Given the description of an element on the screen output the (x, y) to click on. 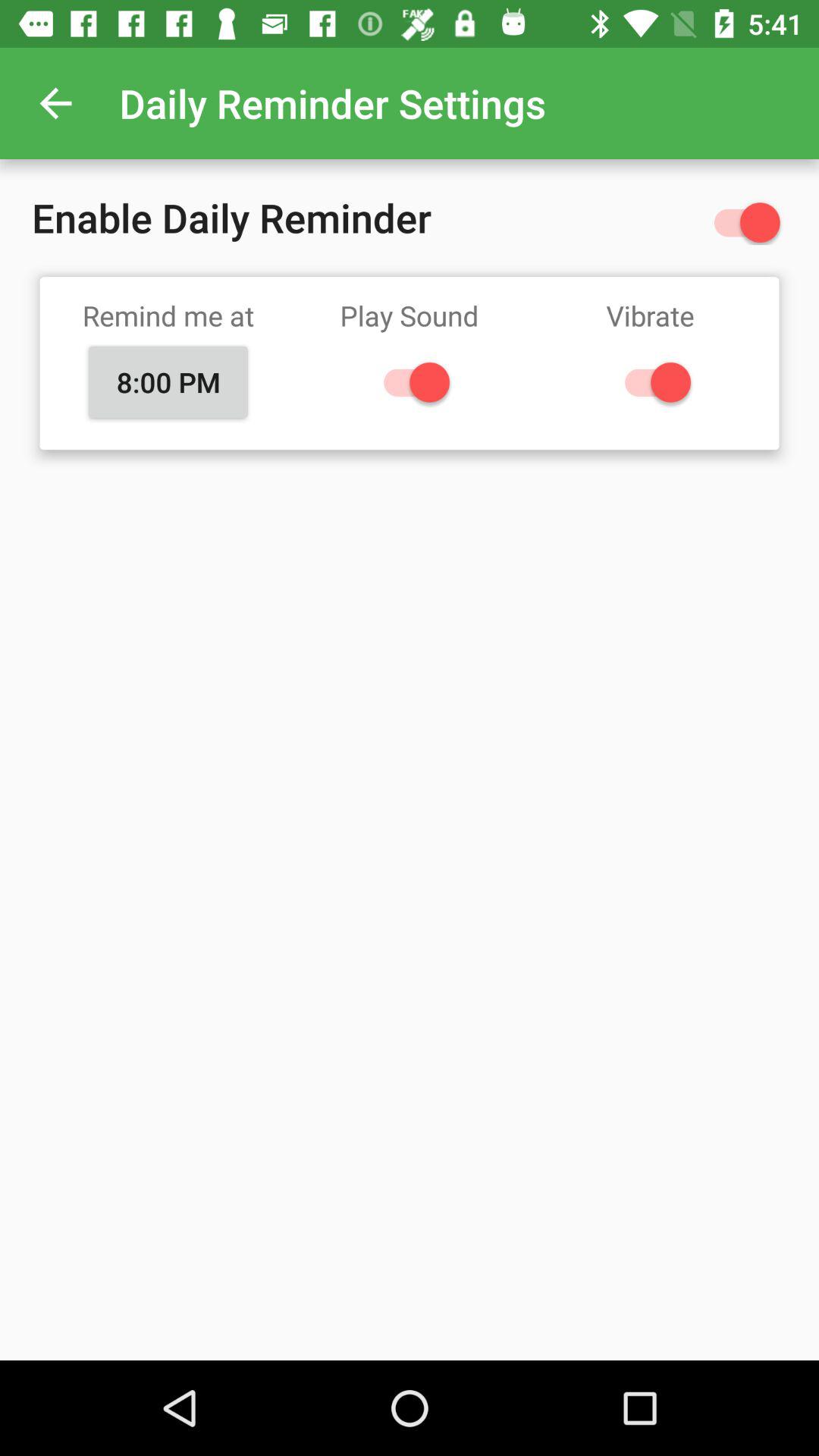
select the icon to the left of daily reminder settings (55, 103)
